Given the description of an element on the screen output the (x, y) to click on. 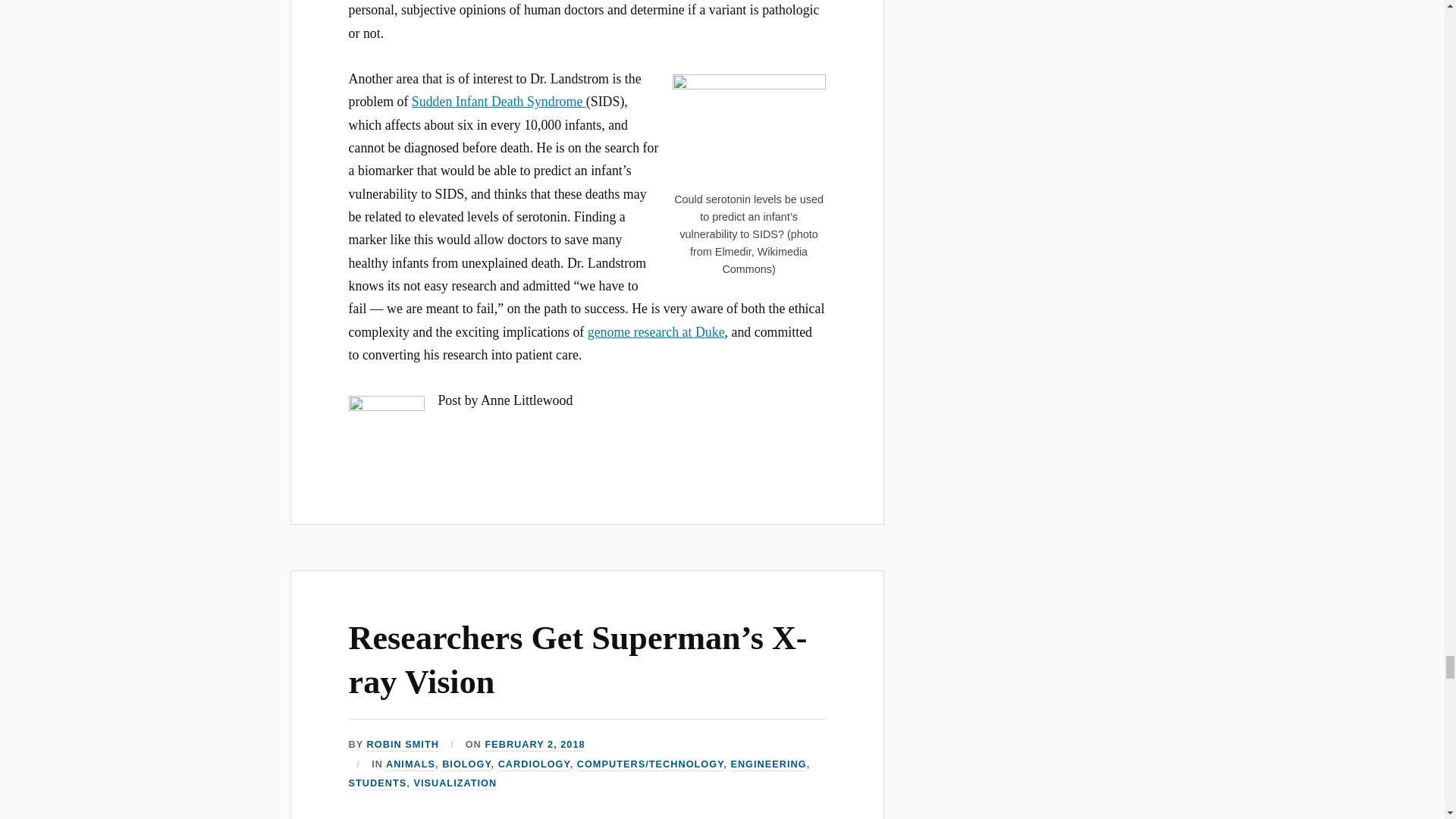
Posts by Robin Smith (402, 744)
